Given the description of an element on the screen output the (x, y) to click on. 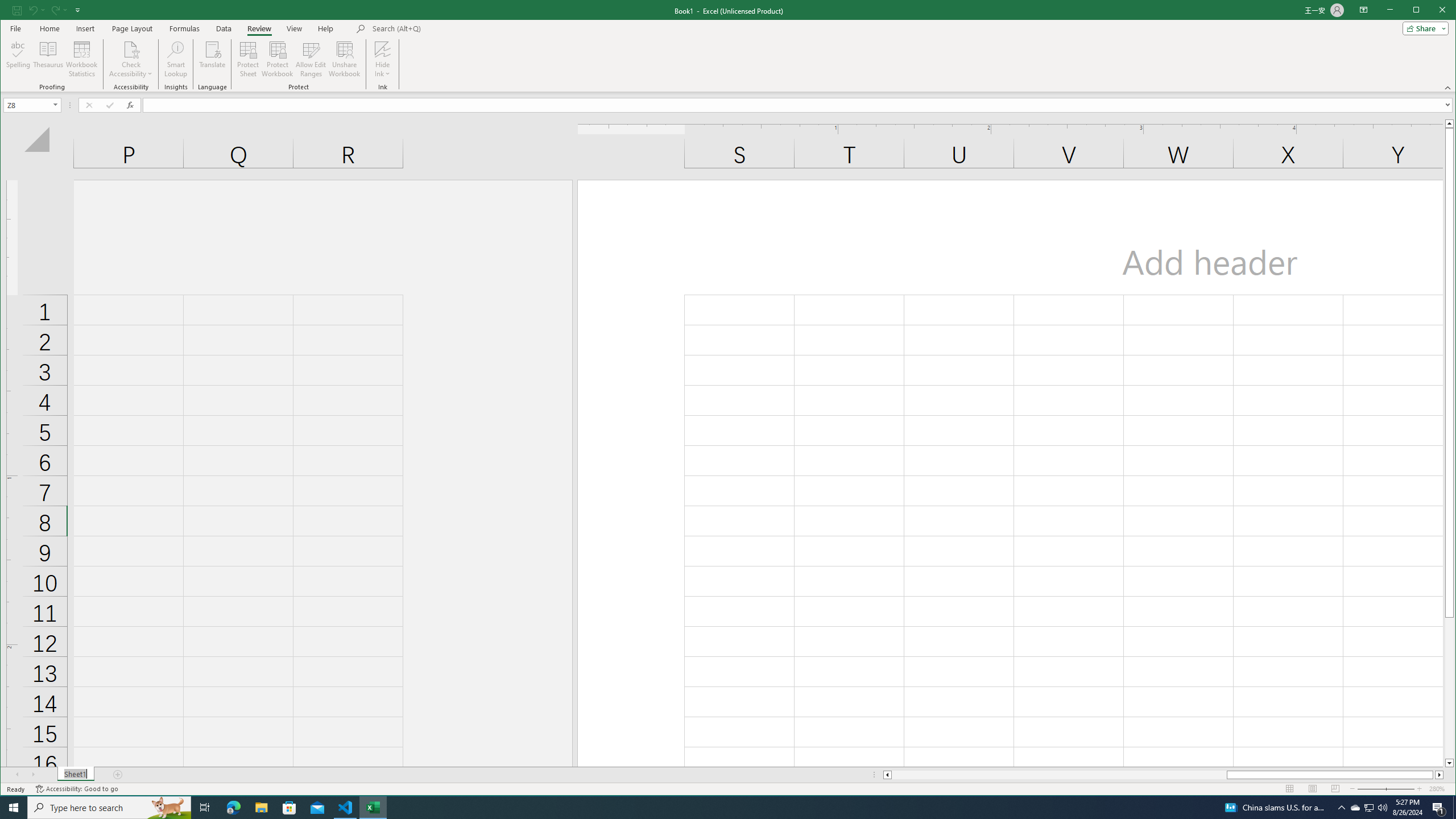
Hide Ink (382, 59)
Formula Bar (799, 104)
Review (259, 28)
Type here to search (108, 807)
Action Center, 1 new notification (1439, 807)
Protect Workbook... (277, 59)
Spelling... (18, 59)
Line down (1449, 763)
Normal (1289, 788)
Minimize (1419, 11)
Share (1422, 27)
Visual Studio Code - 1 running window (345, 807)
Check Accessibility (130, 48)
